Given the description of an element on the screen output the (x, y) to click on. 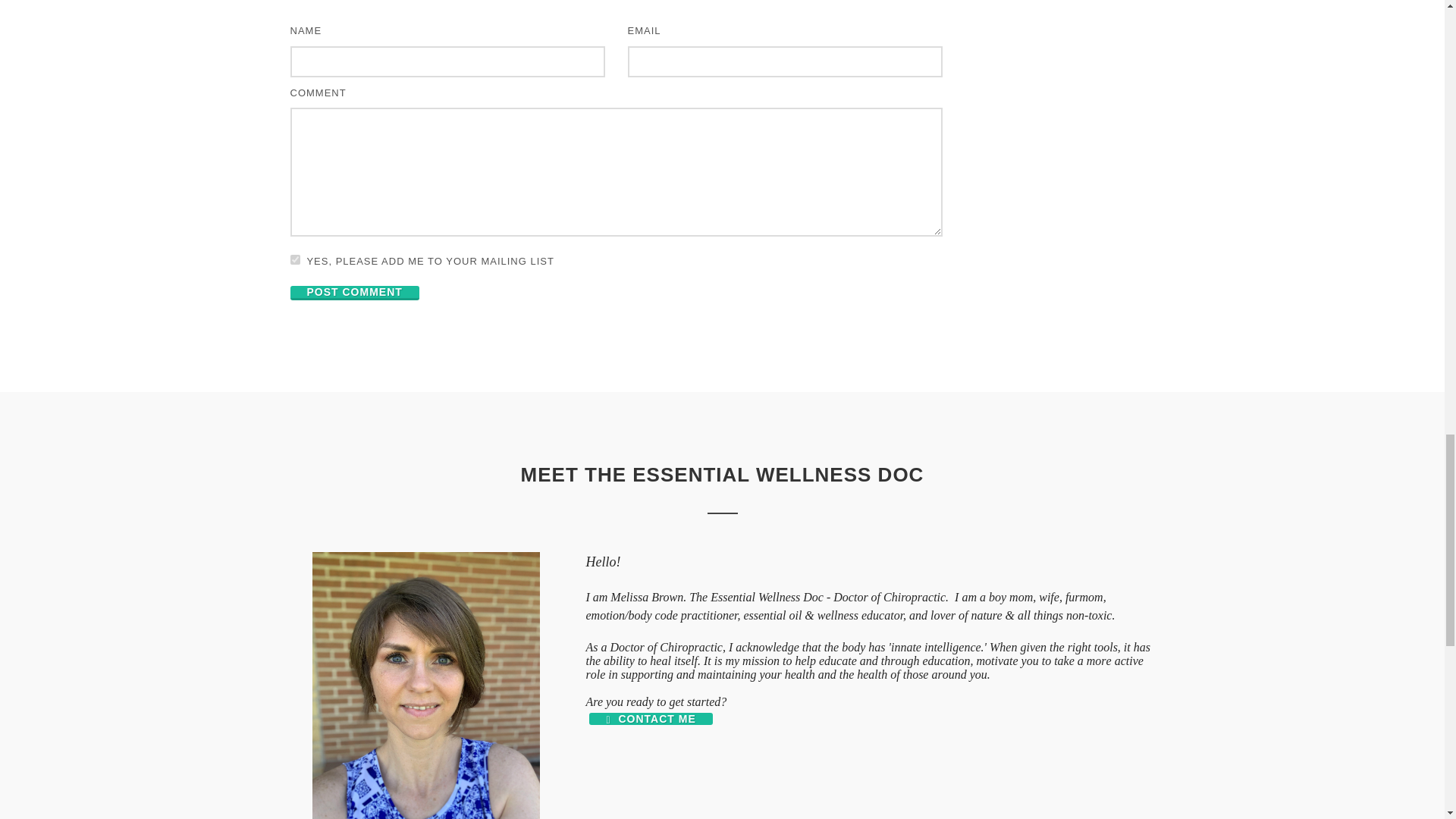
Y (294, 259)
POST COMMENT (354, 292)
